Given the description of an element on the screen output the (x, y) to click on. 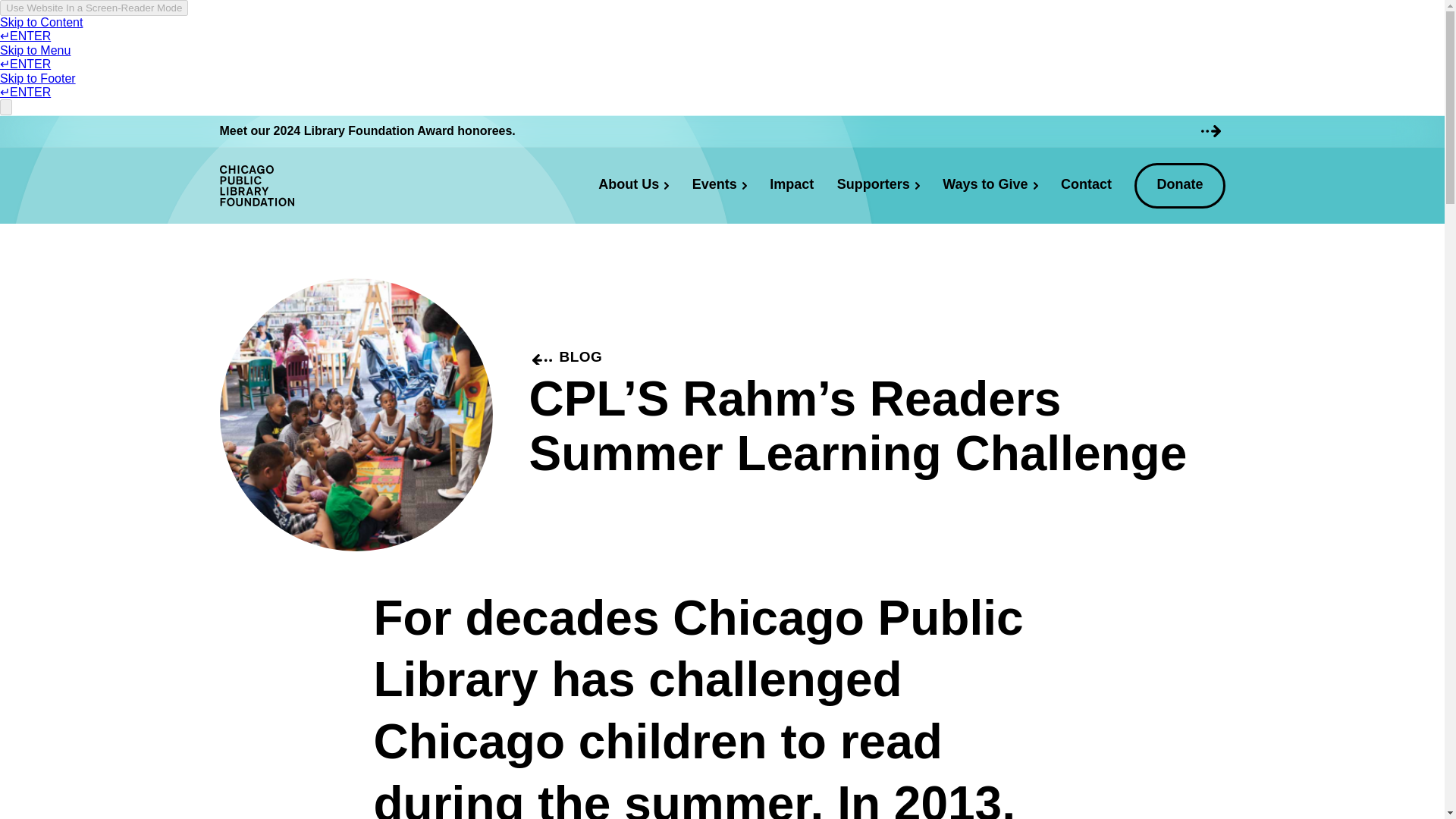
About Us (633, 185)
Contact (1086, 185)
Events (719, 185)
Supporters (878, 185)
Ways to Give (989, 185)
BLOG (565, 356)
Donate (1179, 185)
Impact (792, 185)
